Given the description of an element on the screen output the (x, y) to click on. 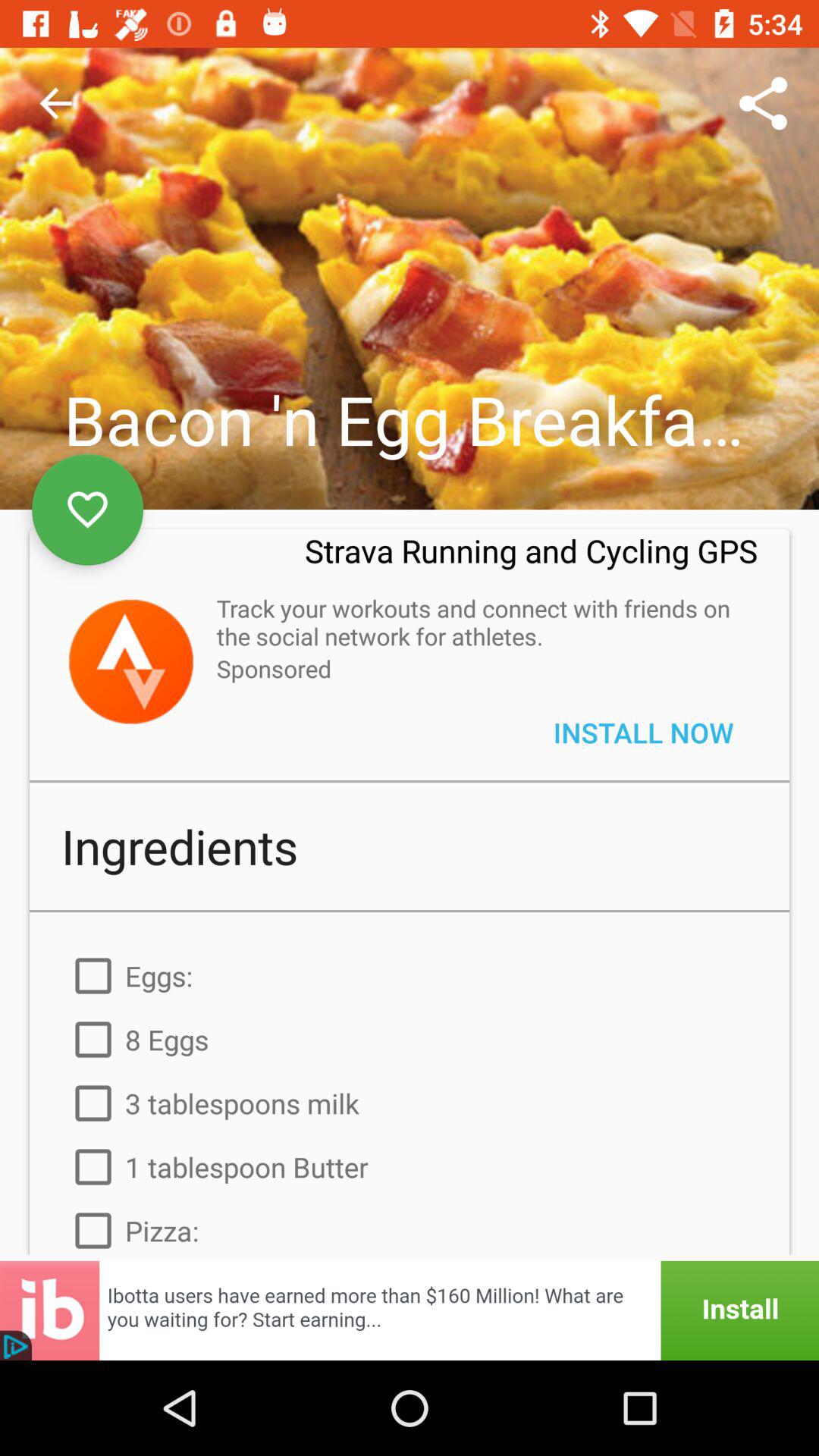
launch the item above the sponsored item (478, 622)
